Given the description of an element on the screen output the (x, y) to click on. 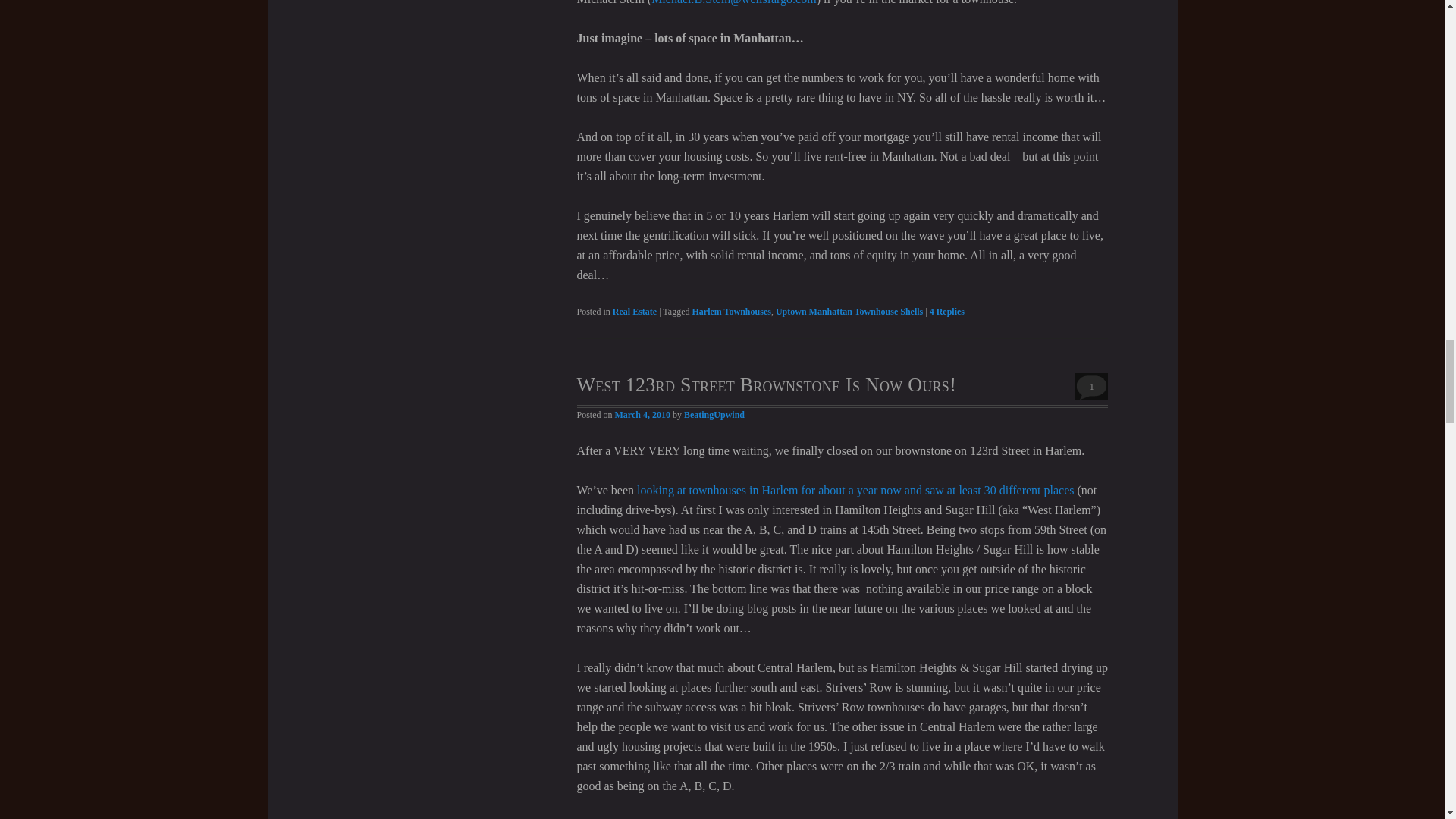
BeatingUpwind (714, 414)
View all posts by BeatingUpwind (714, 414)
Real Estate (634, 311)
March 4, 2010 (641, 414)
4 Replies (946, 311)
West 123rd Street Brownstone Is Now Ours! (766, 384)
2:24 pm (641, 414)
1 (1091, 386)
Uptown Manhattan Townhouse Shells (849, 311)
Harlem Townhouses (732, 311)
